Given the description of an element on the screen output the (x, y) to click on. 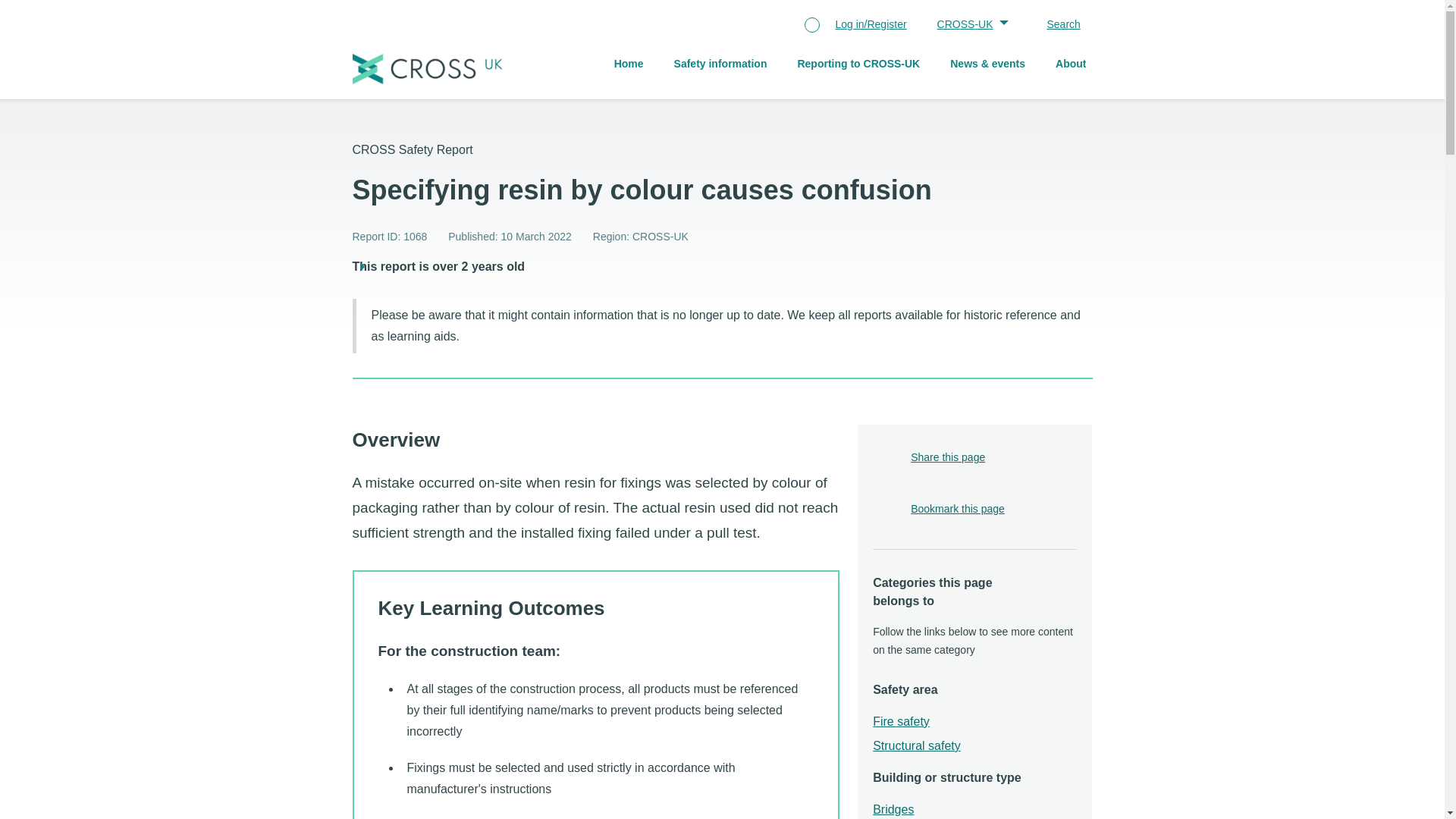
Top menu (906, 25)
Home (628, 65)
CROSS-UK (970, 25)
Bookmark this page (957, 509)
Fire safety (901, 722)
Reporting to CROSS-UK (858, 65)
Main menu (799, 65)
About (1070, 65)
Bridges (893, 810)
Safety information (720, 65)
